Given the description of an element on the screen output the (x, y) to click on. 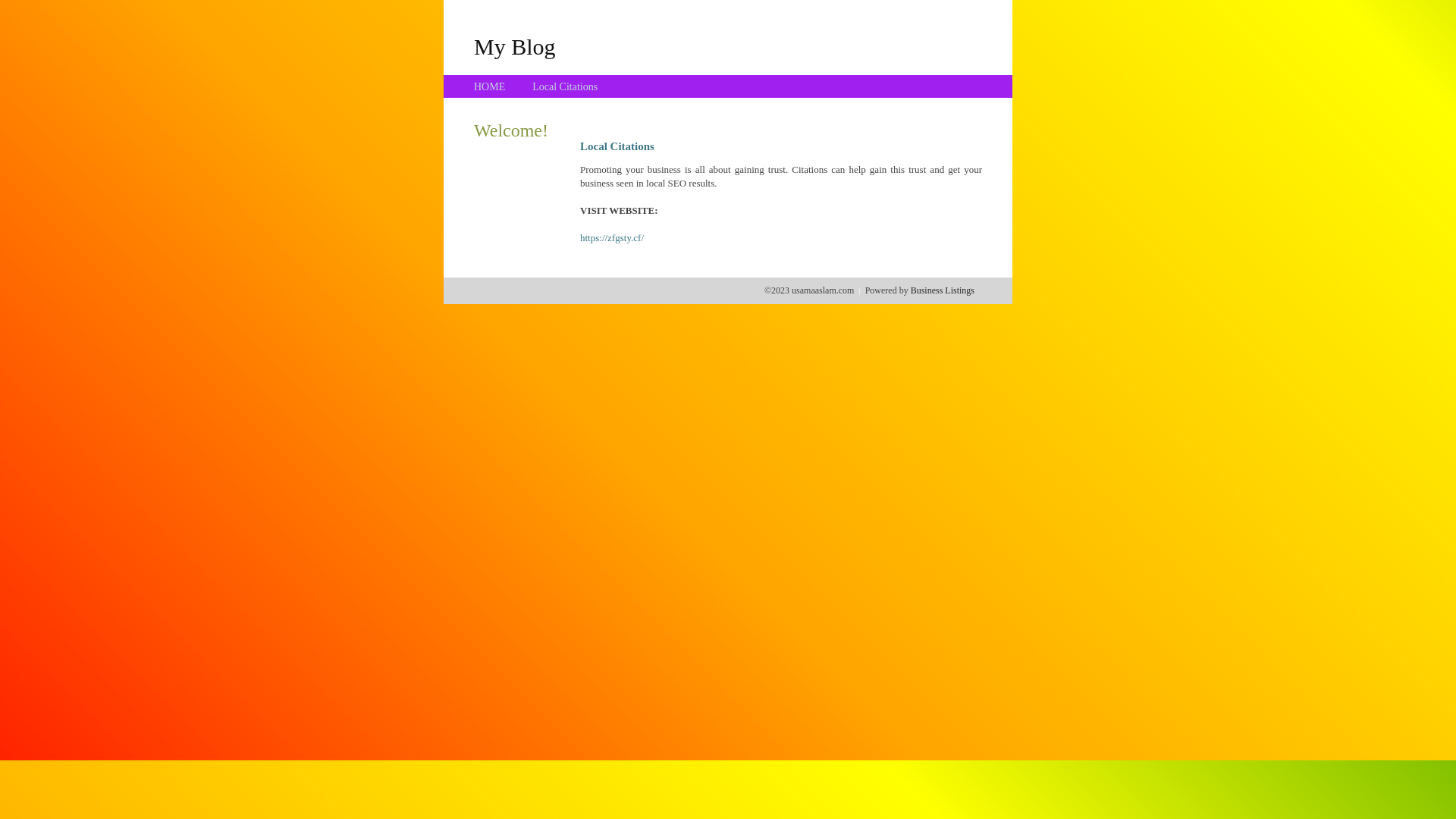
Local Citations Element type: text (564, 86)
https://zfgsty.cf/ Element type: text (611, 237)
Business Listings Element type: text (942, 290)
My Blog Element type: text (514, 46)
HOME Element type: text (489, 86)
